Given the description of an element on the screen output the (x, y) to click on. 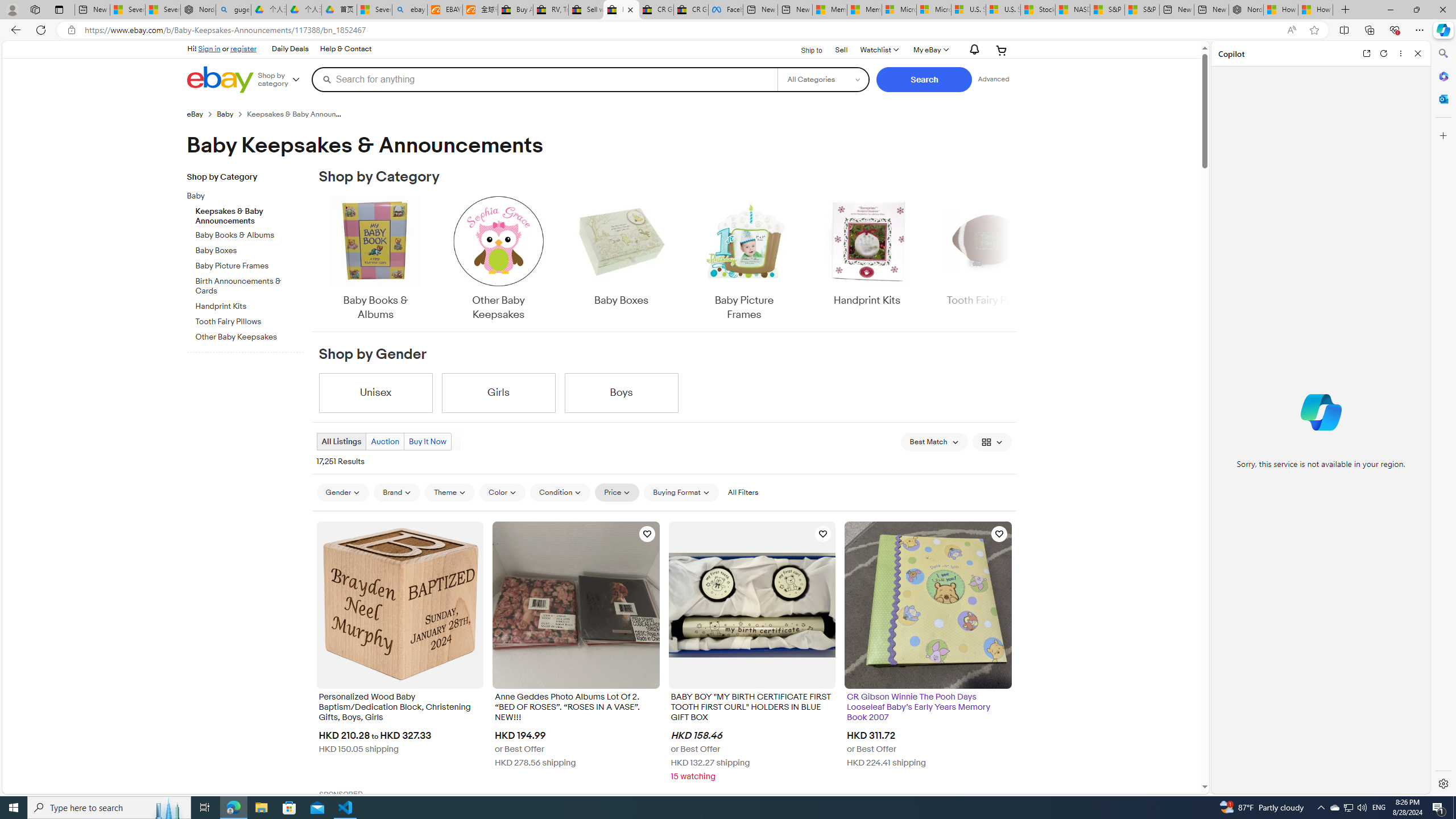
Sell worldwide with eBay (585, 9)
Handprint Kits (866, 251)
Baby Picture Frames (743, 258)
Unisex (375, 392)
Gender (342, 492)
Watchlist (878, 49)
Open link in new tab (1366, 53)
Boys (621, 392)
Baby (249, 194)
Auction (384, 441)
S&P 500, Nasdaq end lower, weighed by Nvidia dip | Watch (1141, 9)
